Given the description of an element on the screen output the (x, y) to click on. 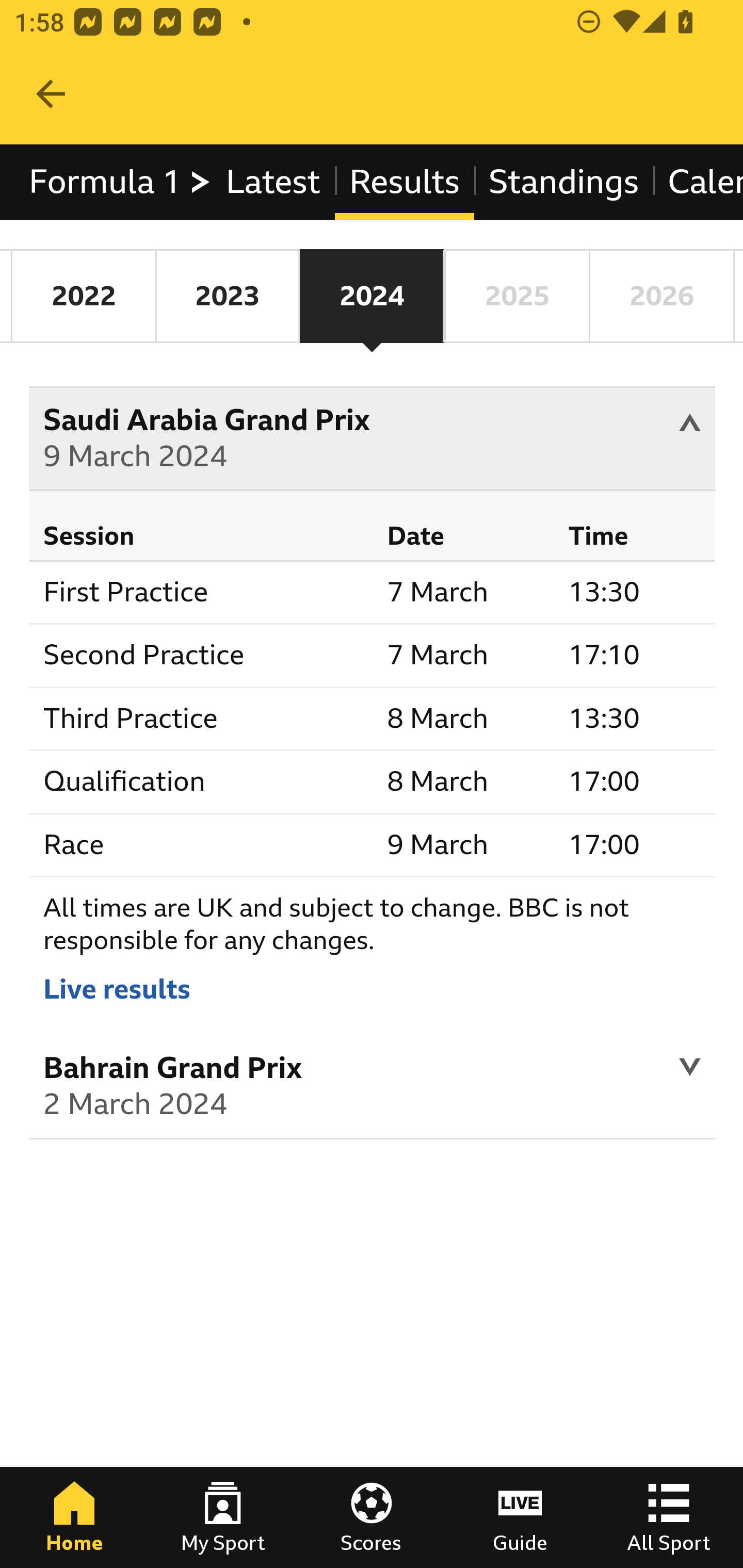
Navigate up (50, 93)
Formula 1  (120, 181)
Latest (272, 181)
Results (403, 181)
Standings (564, 181)
Calendar (697, 181)
2022 (83, 296)
2023 (227, 296)
2024, Selected 2024 , Selected (371, 296)
Live results (117, 988)
Bahrain Grand Prix, Bahrain IC 2 March 2024 (372, 1088)
My Sport (222, 1517)
Scores (371, 1517)
Guide (519, 1517)
All Sport (668, 1517)
